Given the description of an element on the screen output the (x, y) to click on. 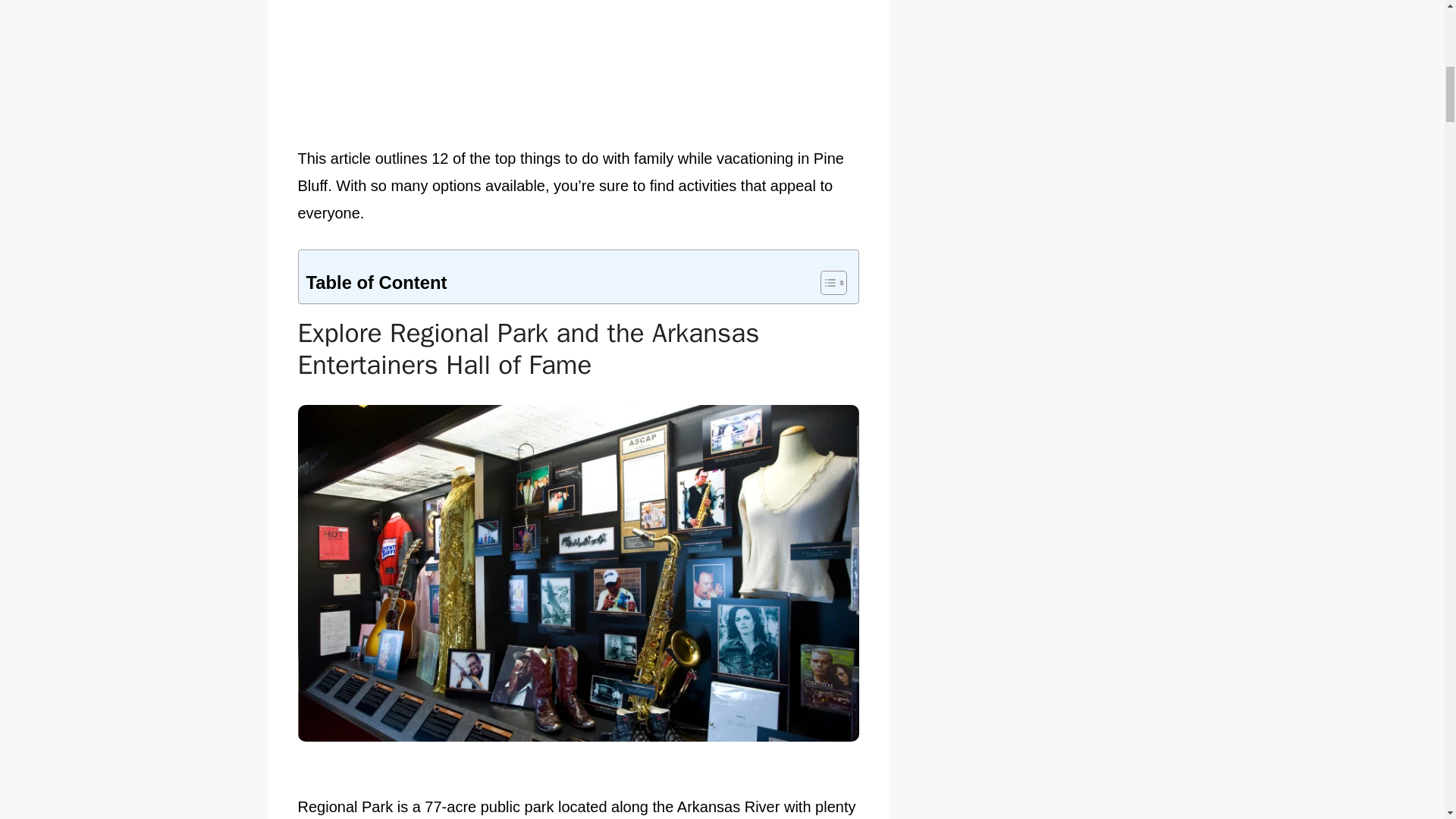
Advertisement (578, 69)
